Given the description of an element on the screen output the (x, y) to click on. 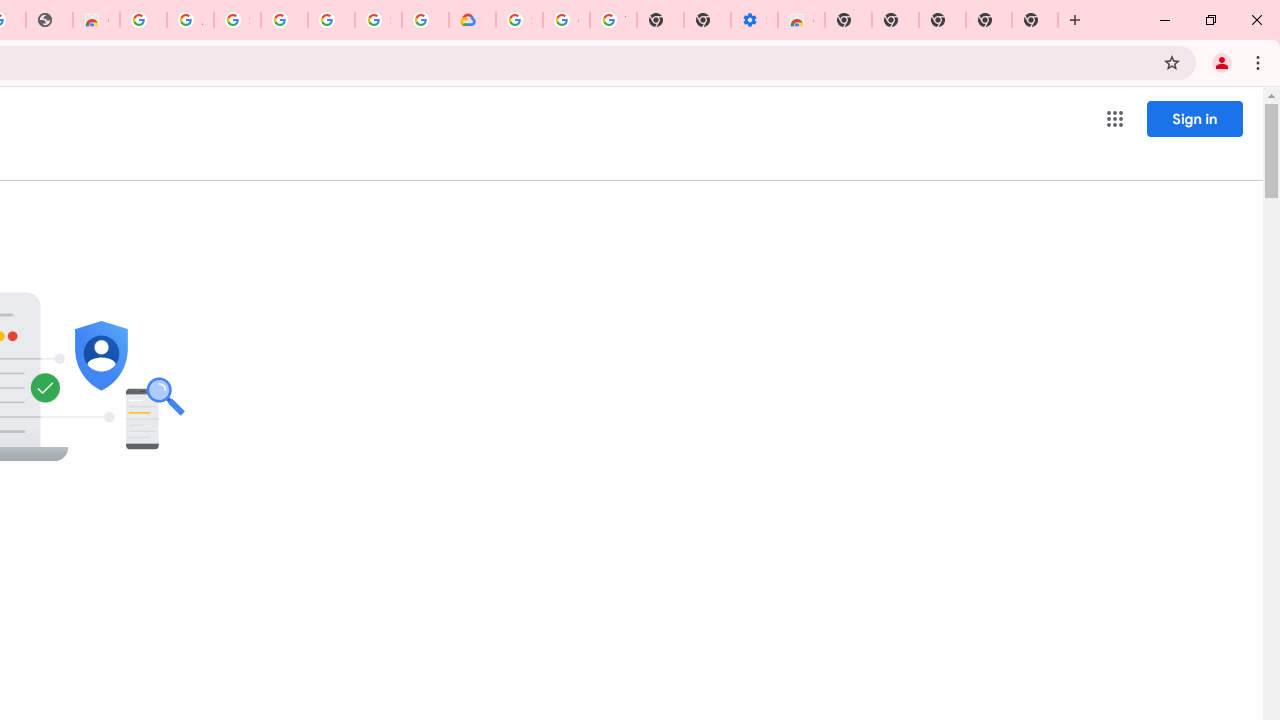
Sign in - Google Accounts (237, 20)
Turn cookies on or off - Computer - Google Account Help (613, 20)
New Tab (848, 20)
New Tab (1035, 20)
Chrome Web Store - Household (96, 20)
Ad Settings (189, 20)
Google Account Help (566, 20)
